Given the description of an element on the screen output the (x, y) to click on. 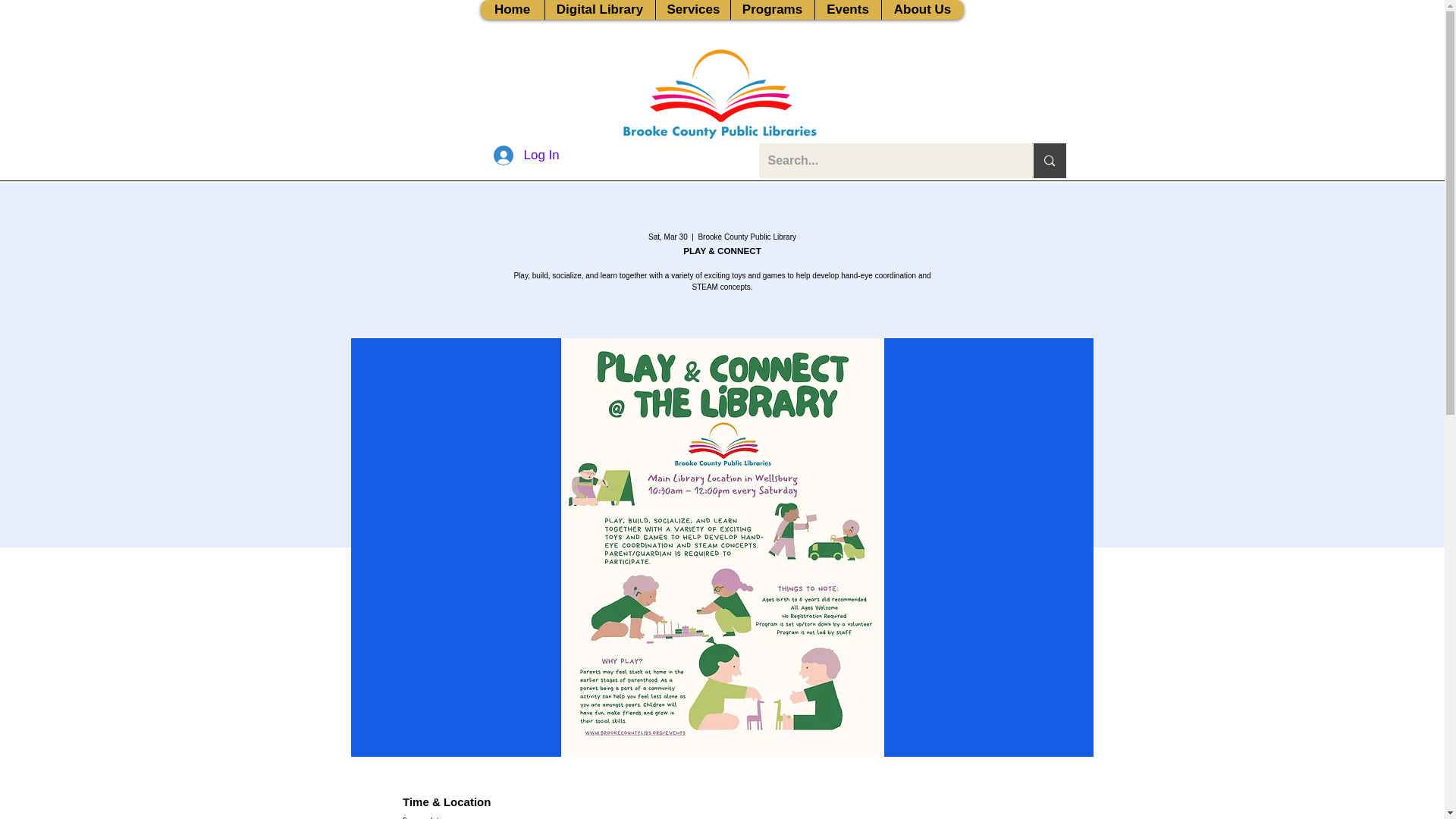
Home (512, 9)
Programs (771, 9)
Digital Library (599, 9)
About Us (921, 9)
Log In (519, 154)
Events (846, 9)
